Given the description of an element on the screen output the (x, y) to click on. 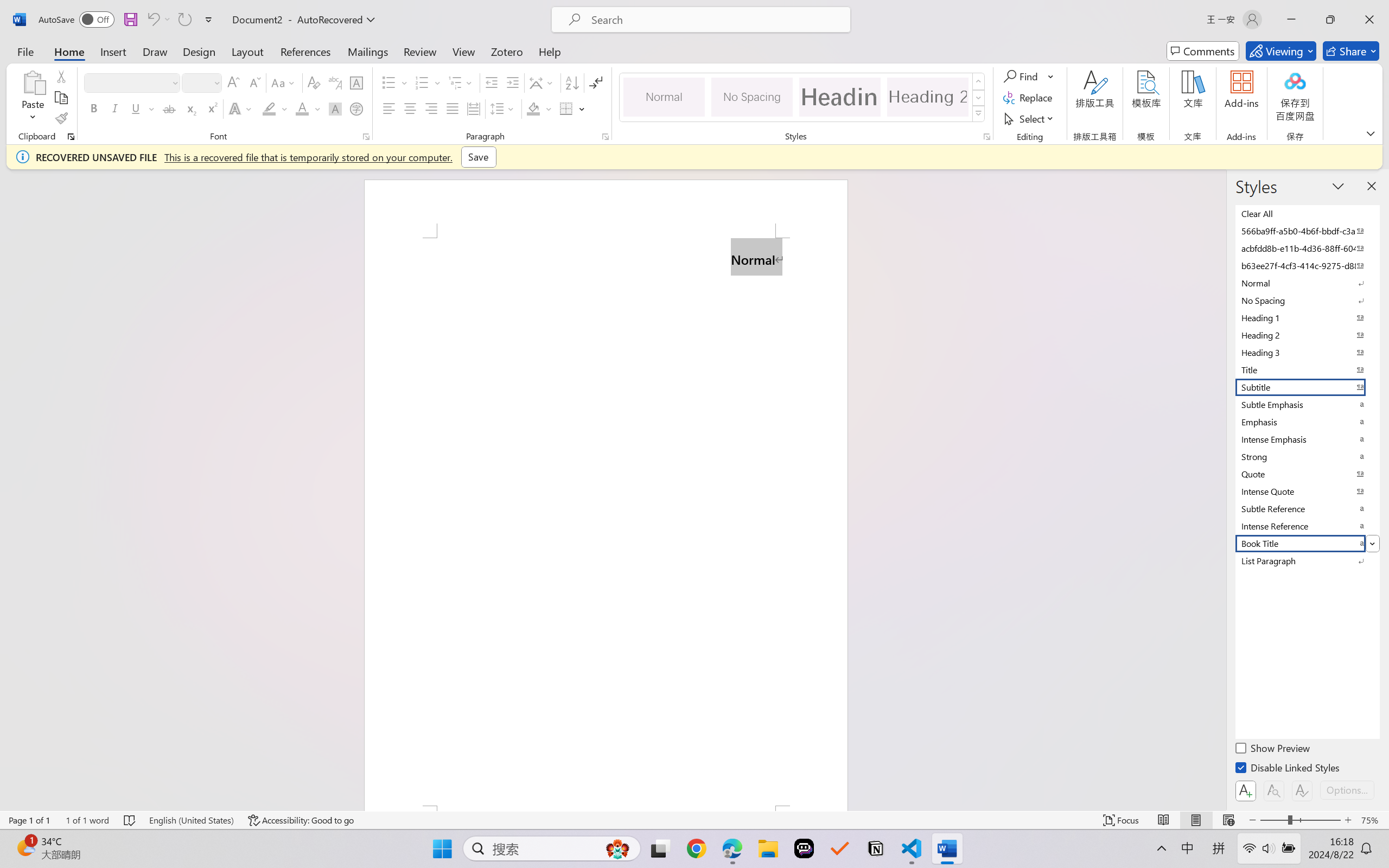
Center (409, 108)
Grow Font (233, 82)
Clear Formatting (313, 82)
Ribbon Display Options (1370, 132)
Row Down (978, 97)
Row up (978, 81)
Class: NetUIButton (1301, 790)
Microsoft search (715, 19)
Superscript (210, 108)
